Given the description of an element on the screen output the (x, y) to click on. 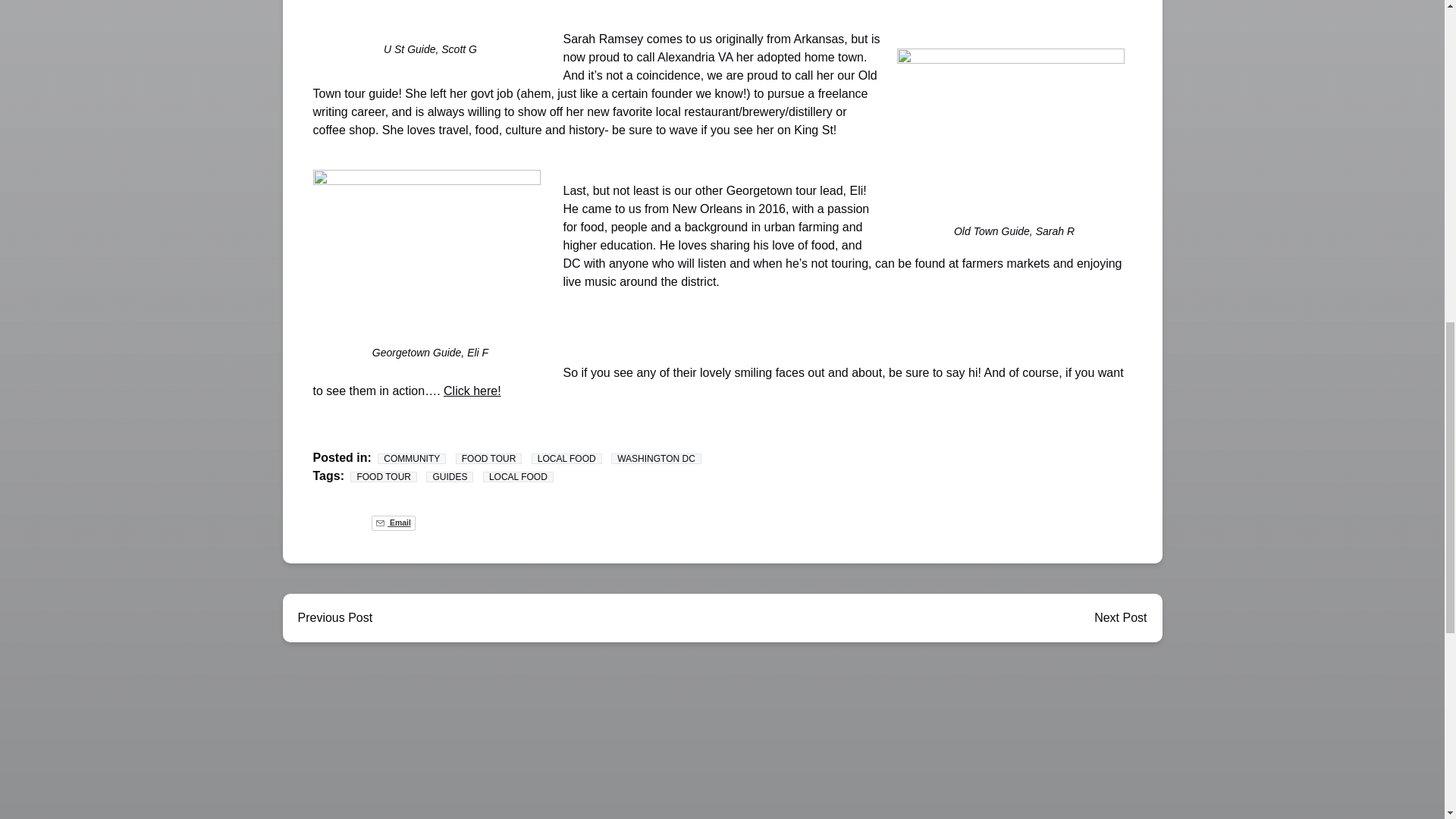
FOOD TOUR (488, 458)
Next Post (1119, 617)
COMMUNITY (411, 458)
Previous Post (334, 617)
GUIDES (449, 476)
Community (411, 458)
FOOD TOUR (383, 476)
LOCAL FOOD (566, 458)
Email (392, 522)
Click here! (472, 390)
